Given the description of an element on the screen output the (x, y) to click on. 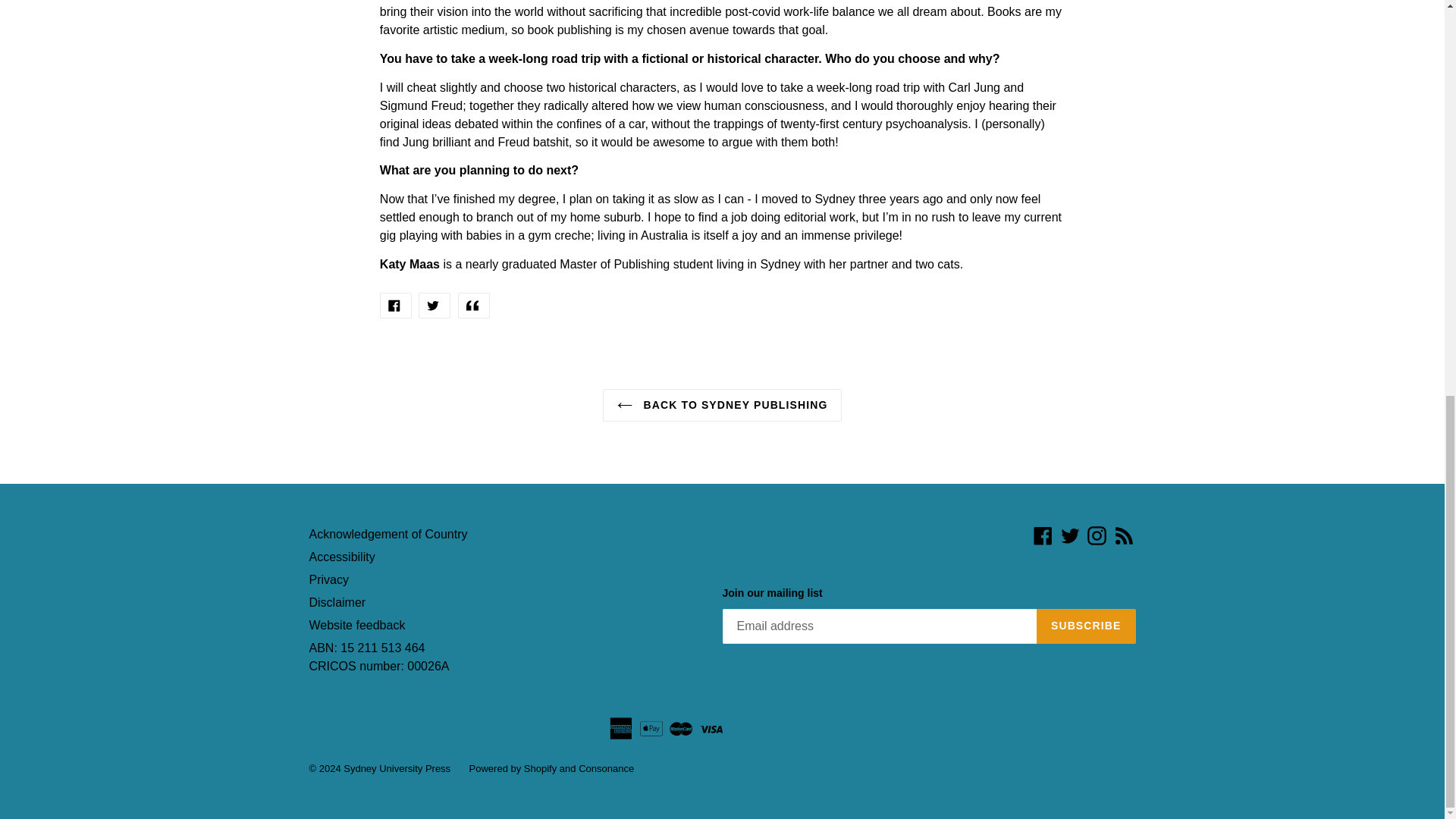
Share on Facebook (396, 305)
Sydney University Press on Twitter (1069, 534)
Tweet on Twitter (434, 305)
Sydney University Press on Instagram (1096, 534)
Sydney University Press on Facebook (1042, 534)
Share via email (473, 305)
